Given the description of an element on the screen output the (x, y) to click on. 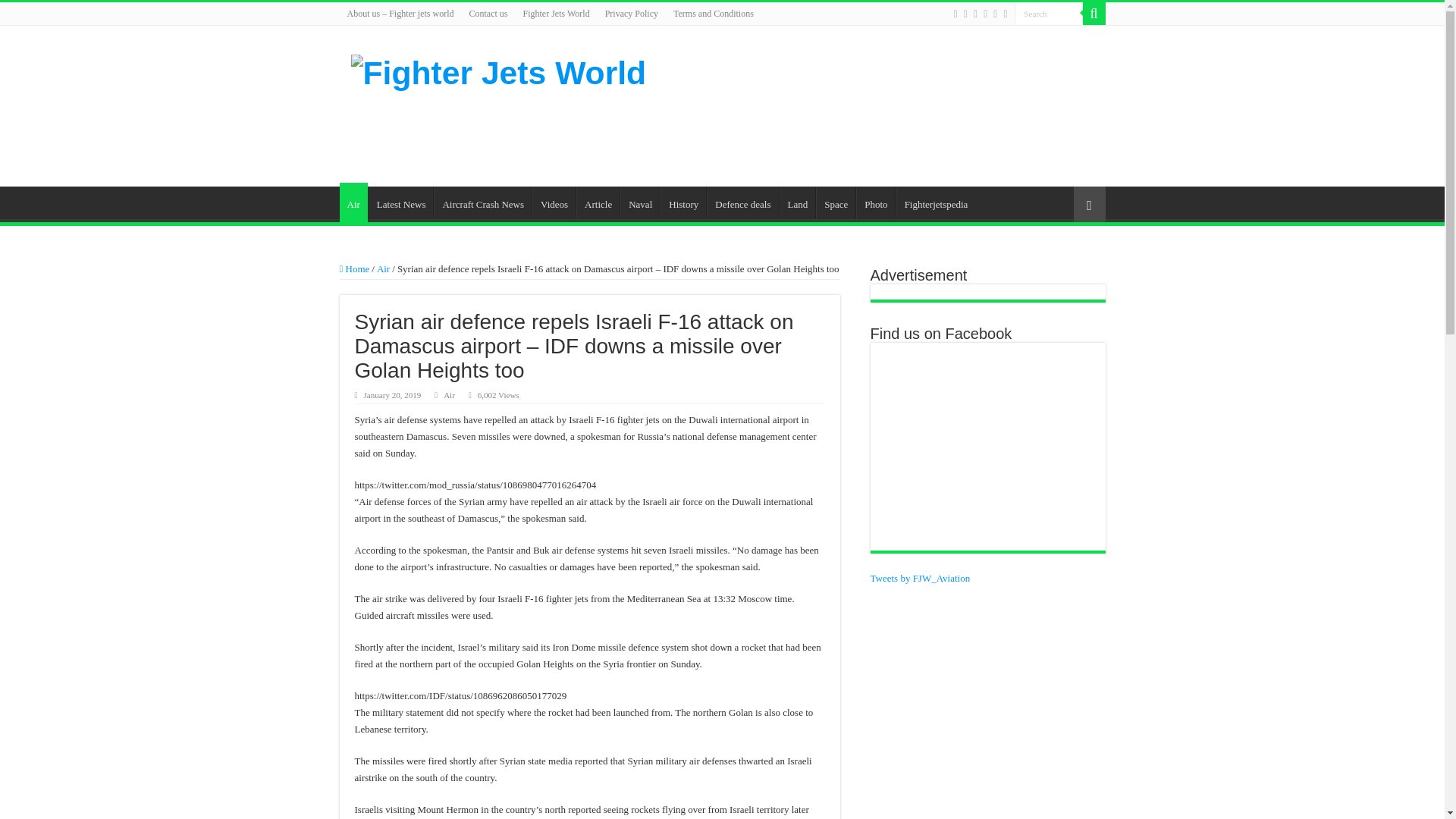
Search (1048, 13)
Land (796, 202)
Search (1048, 13)
Photo (875, 202)
Home (354, 268)
Air (449, 394)
Search (1094, 13)
Article (598, 202)
Aircraft Crash News (482, 202)
Videos (553, 202)
Privacy Policy (630, 13)
Contact us (488, 13)
History (683, 202)
Fighter Jets World (555, 13)
Terms and Conditions (713, 13)
